Given the description of an element on the screen output the (x, y) to click on. 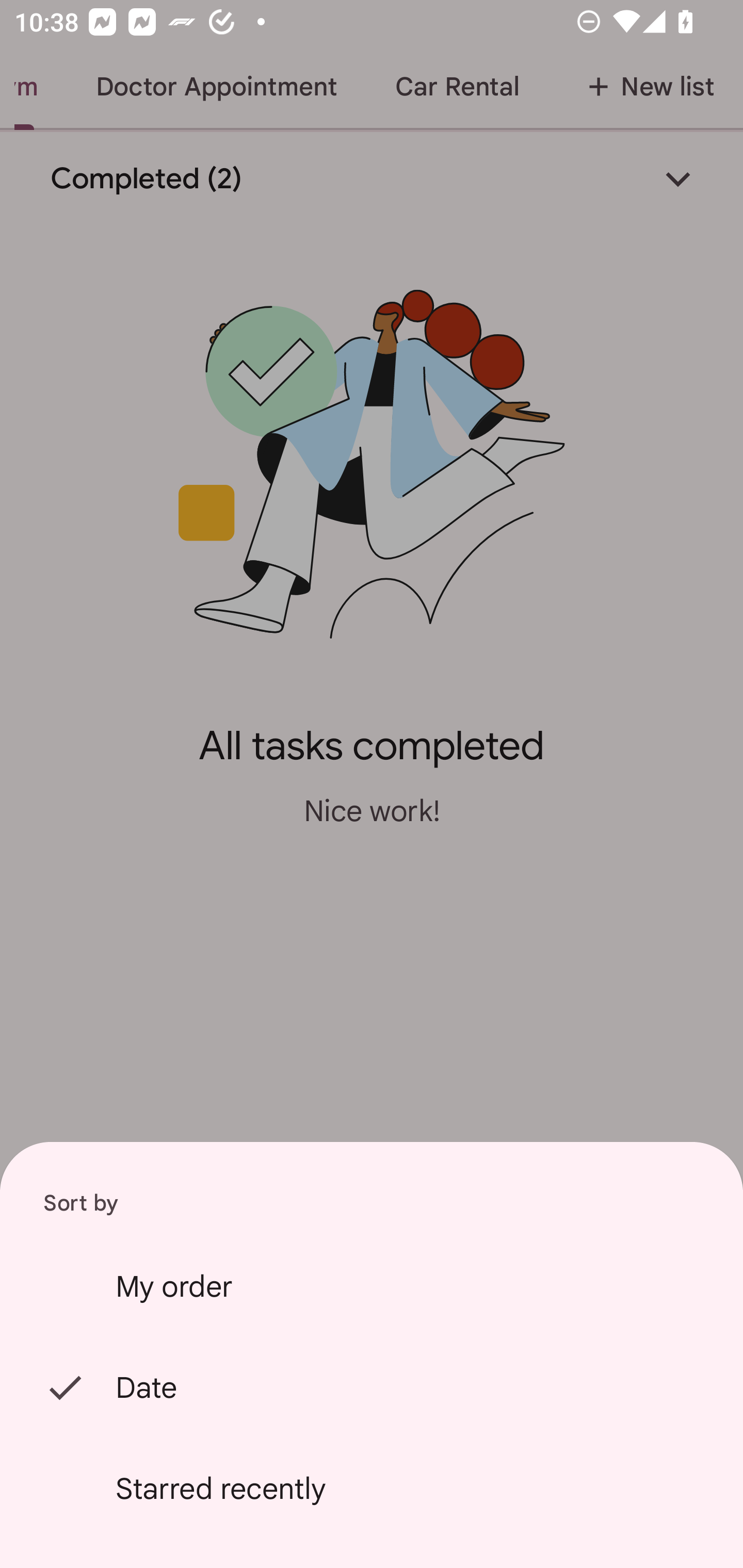
My order (371, 1286)
Date (371, 1387)
Starred recently (371, 1488)
